Given the description of an element on the screen output the (x, y) to click on. 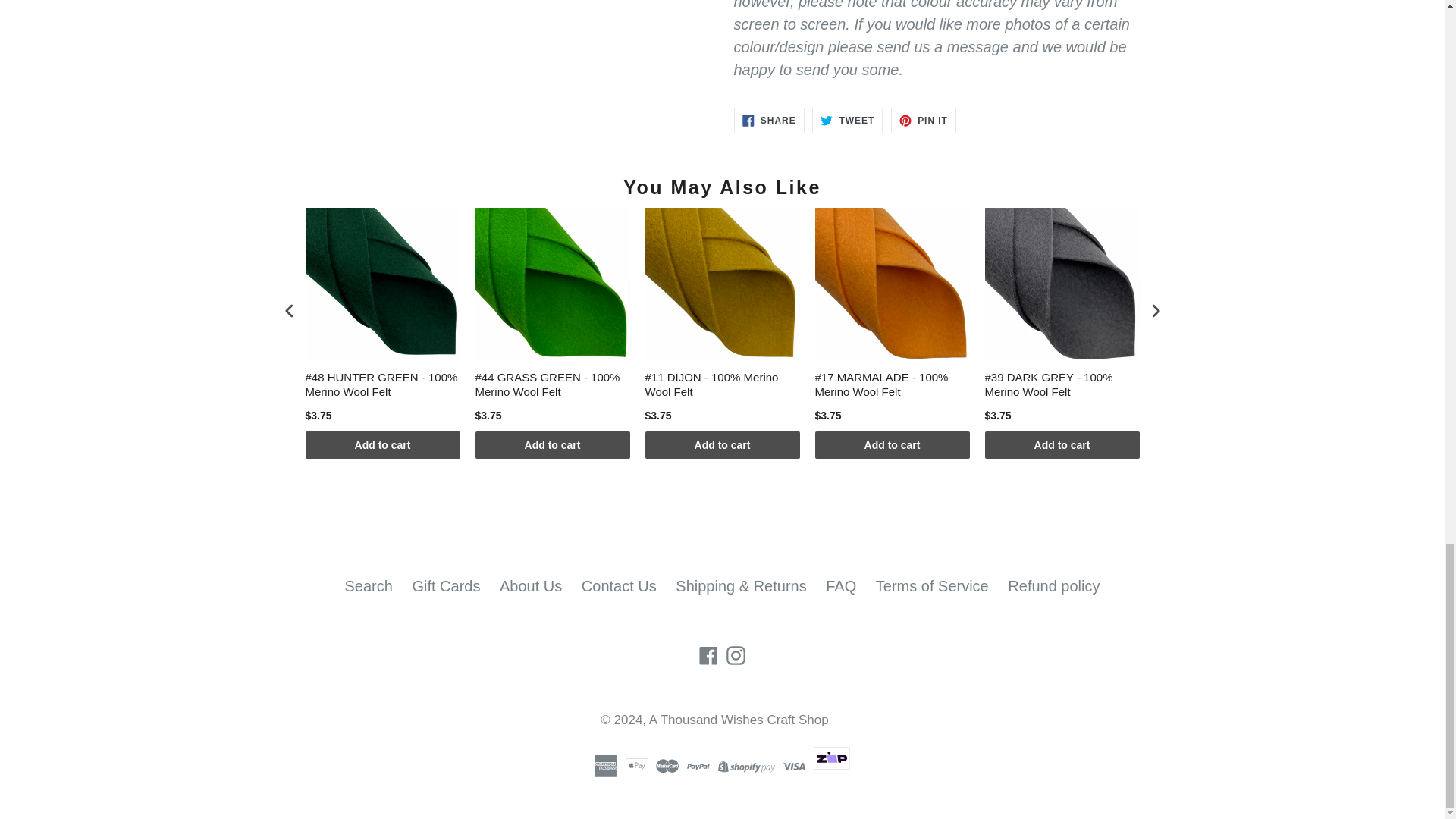
Tweet on Twitter (847, 120)
A Thousand Wishes Craft Shop on Facebook (708, 653)
A Thousand Wishes Craft Shop on Instagram (735, 653)
Pin on Pinterest (923, 120)
Share on Facebook (769, 120)
